Given the description of an element on the screen output the (x, y) to click on. 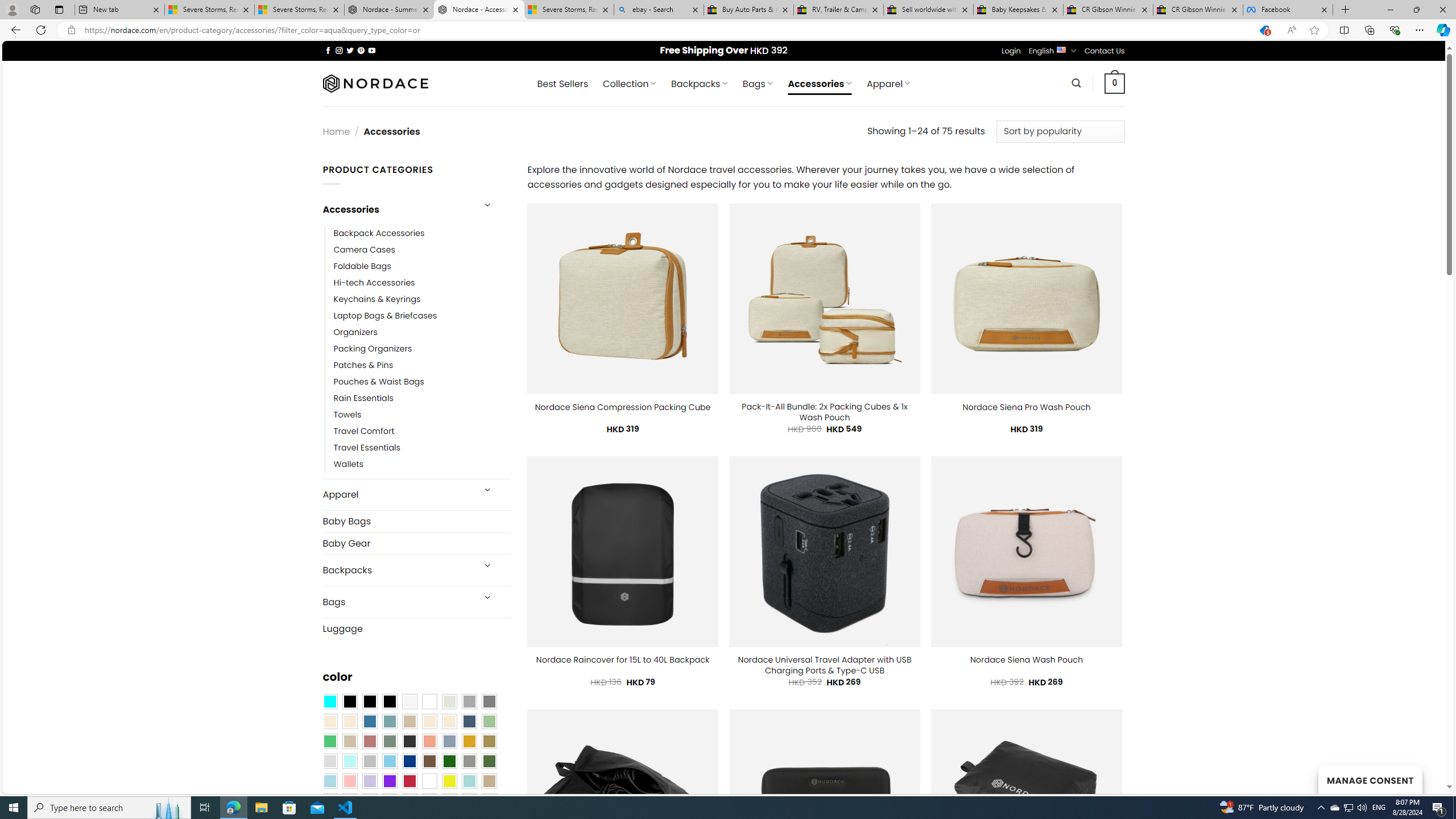
Emerald Green (329, 741)
Laptop Bags & Briefcases (384, 316)
Wallets (348, 464)
Rose (369, 741)
Luggage (416, 628)
Towels (347, 415)
Baby Gear (416, 542)
English (1061, 49)
Aqua Blue (329, 701)
Beige-Brown (349, 721)
Camera Cases (422, 248)
